Given the description of an element on the screen output the (x, y) to click on. 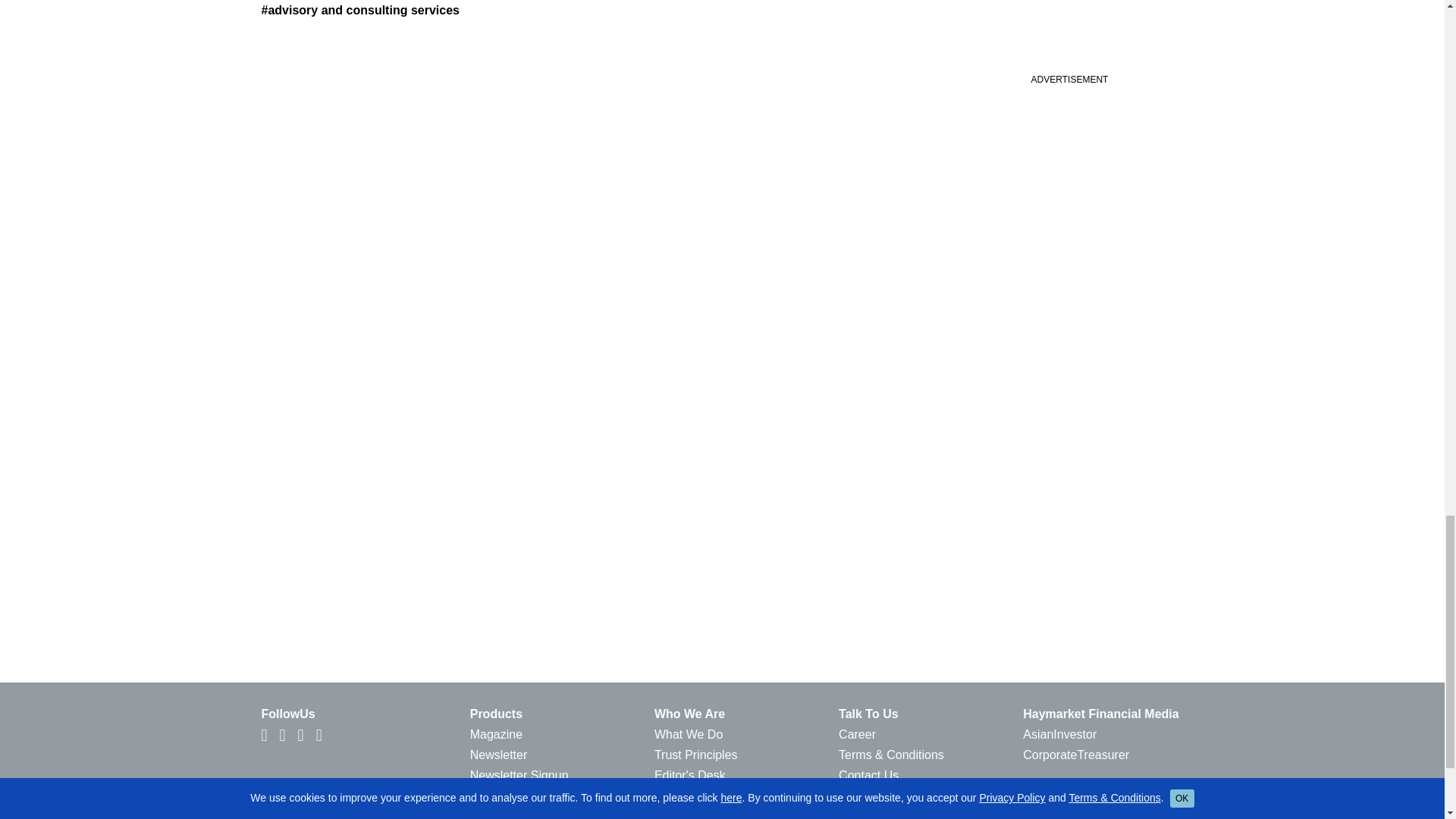
3rd party ad content (1068, 96)
